Given the description of an element on the screen output the (x, y) to click on. 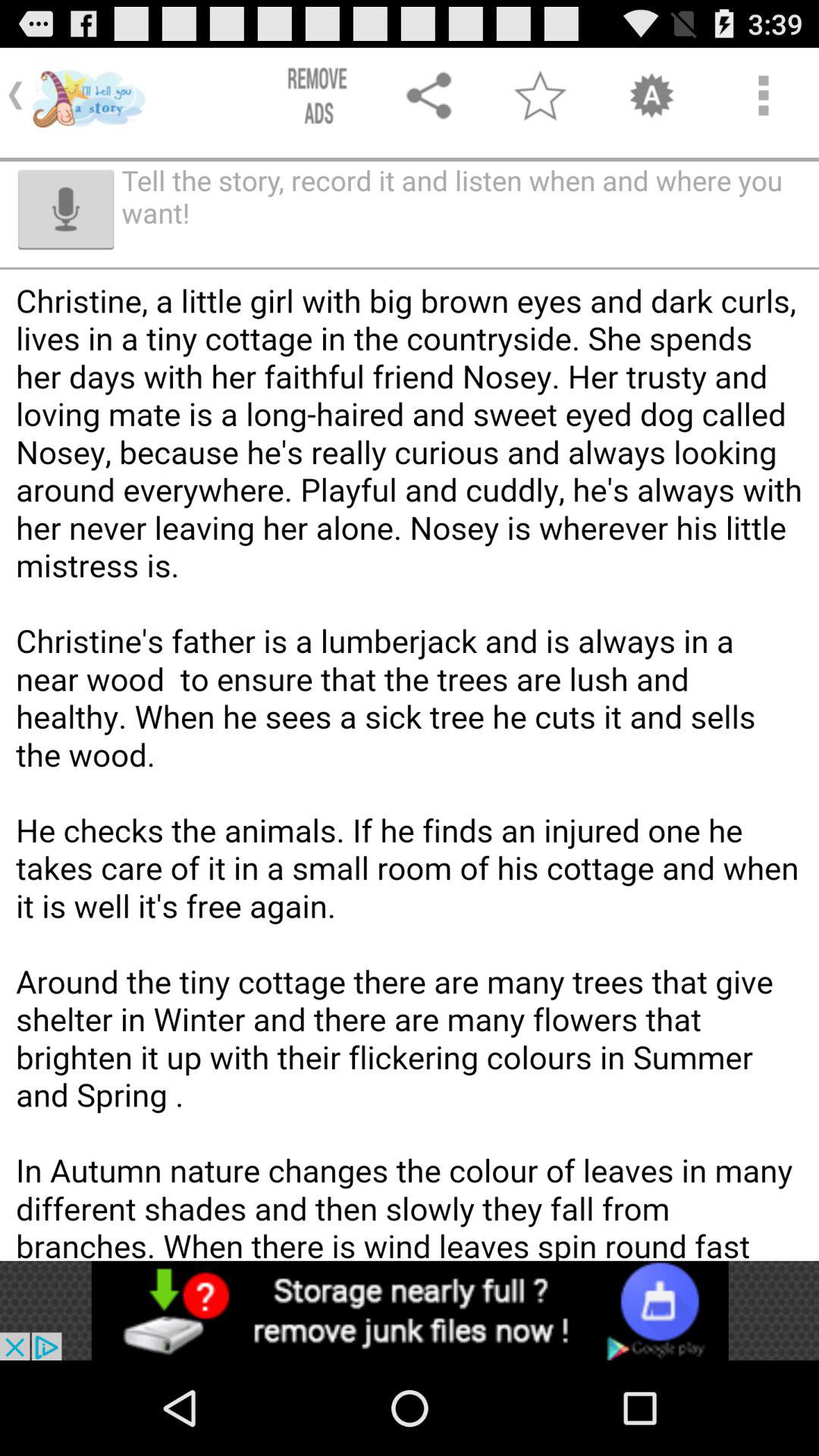
advertisement bar (409, 1310)
